Given the description of an element on the screen output the (x, y) to click on. 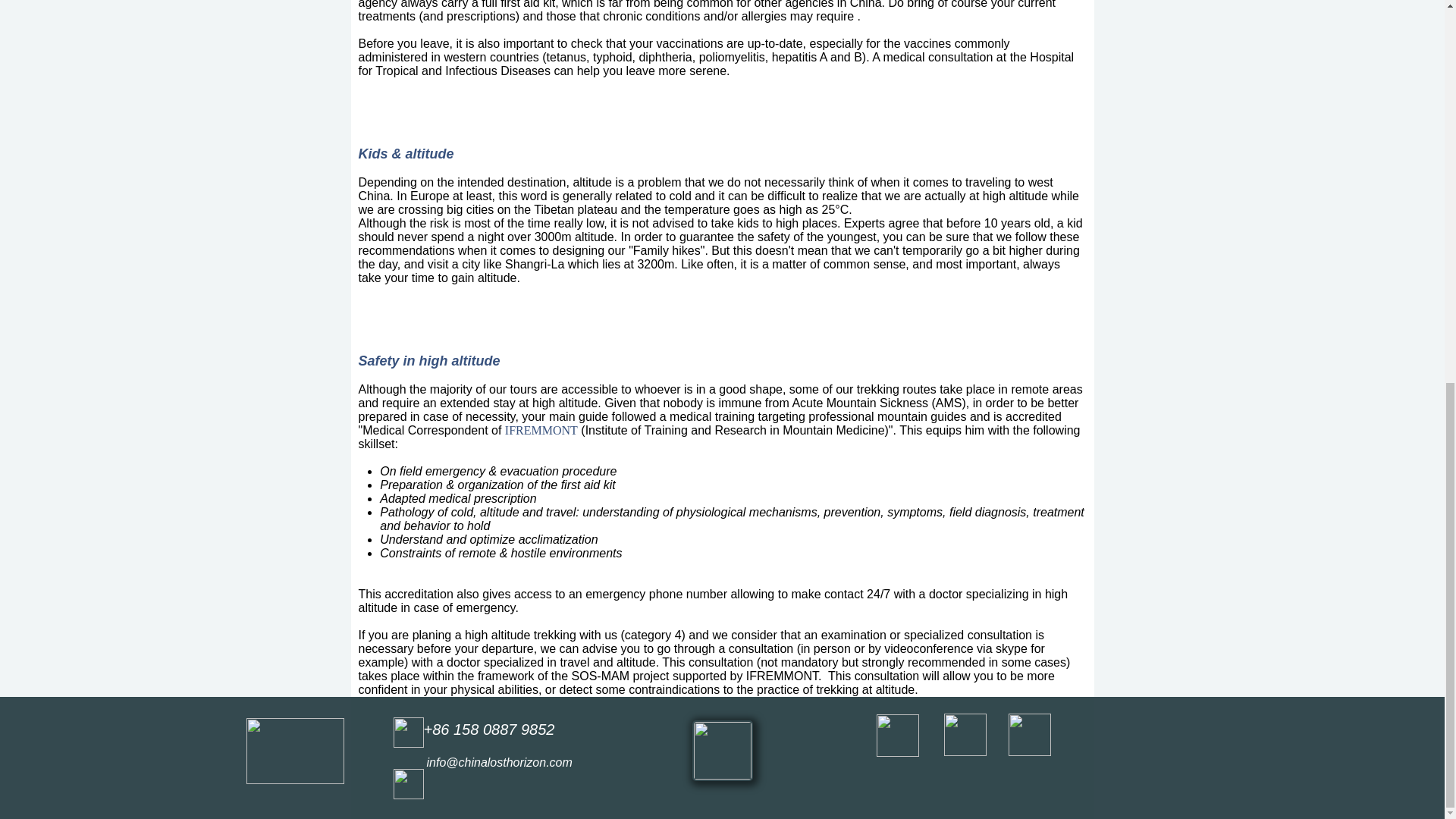
IFREMMONT (541, 430)
